Given the description of an element on the screen output the (x, y) to click on. 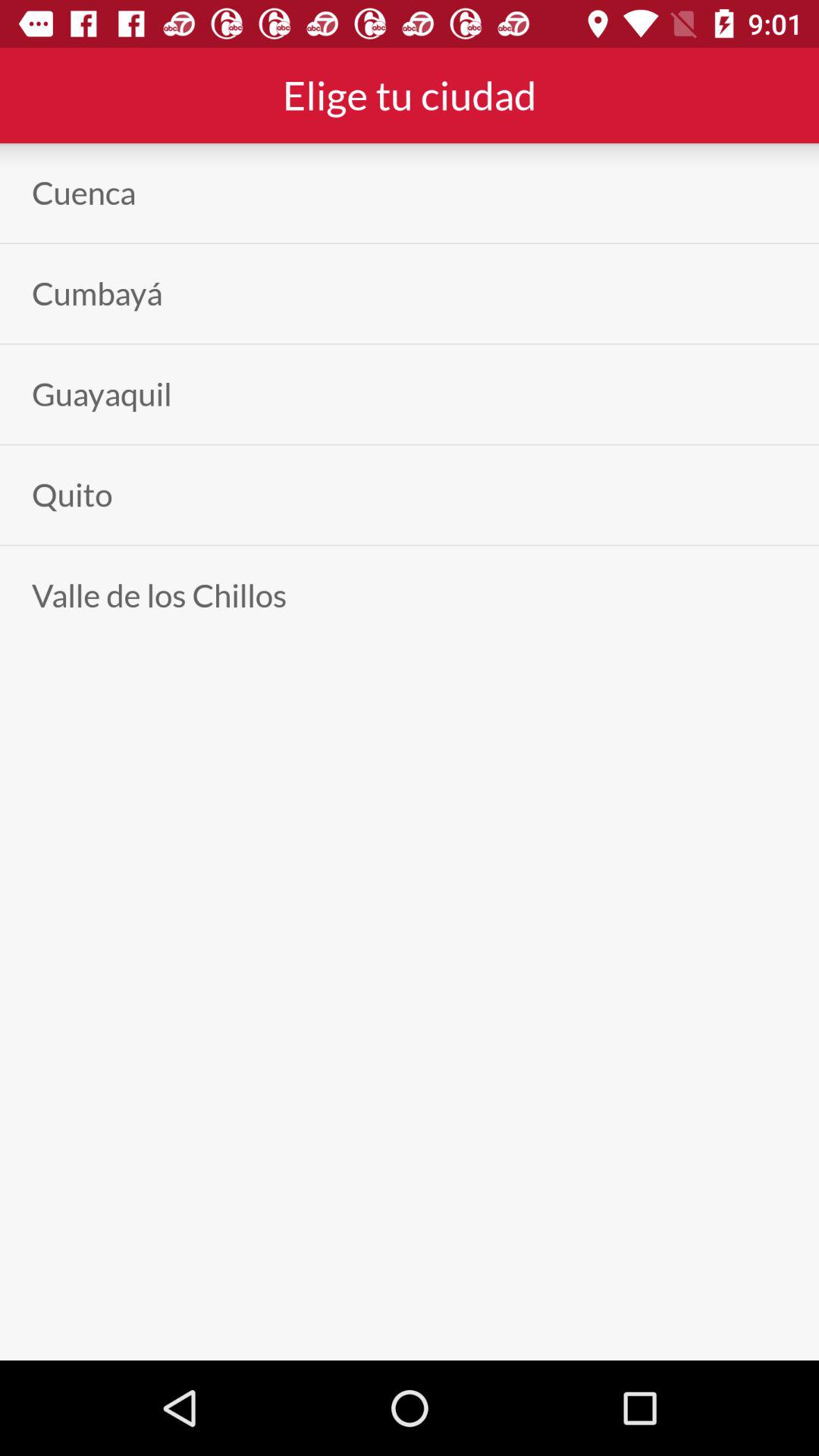
launch the cuenca app (83, 193)
